Given the description of an element on the screen output the (x, y) to click on. 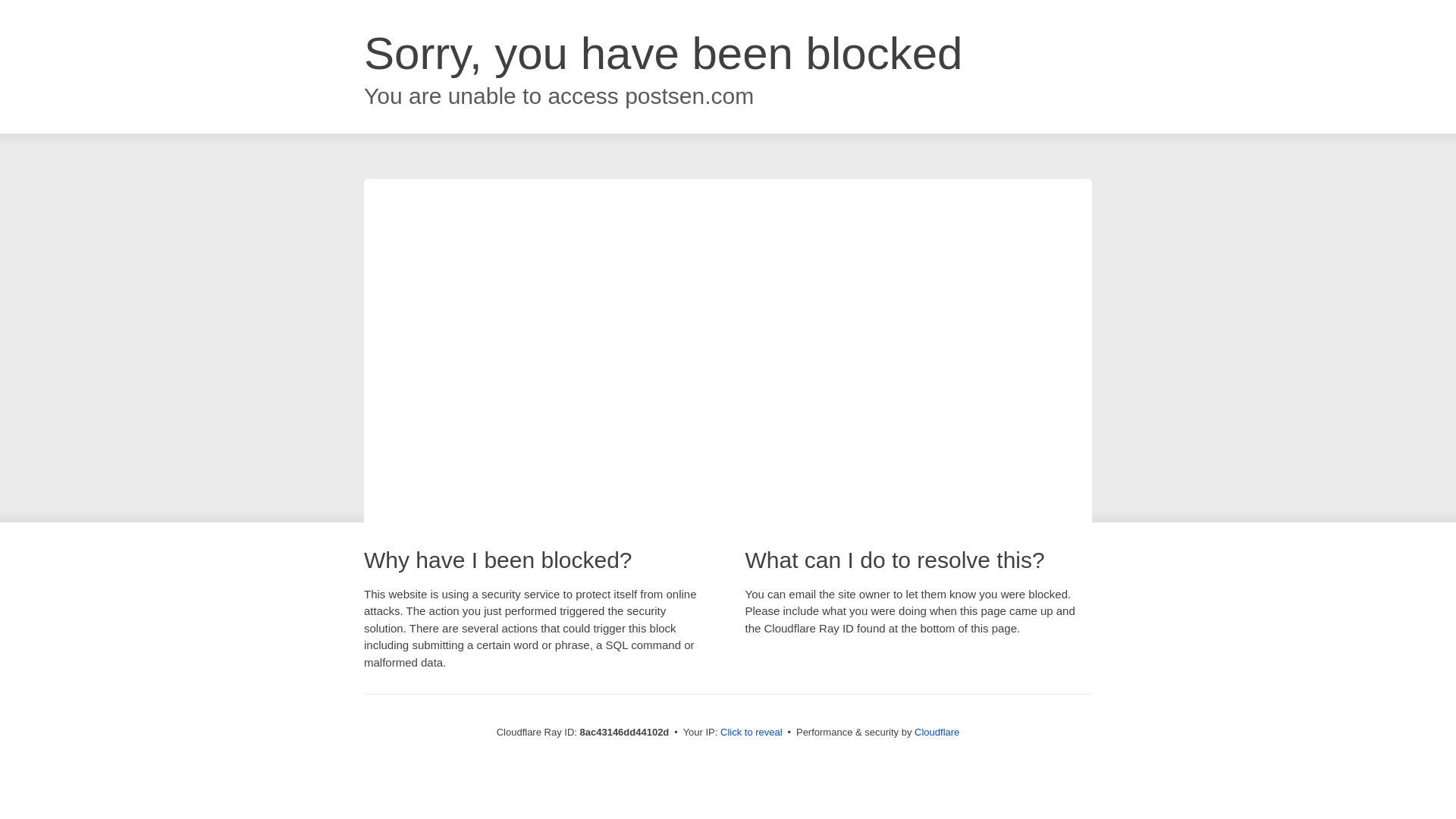
Click to reveal (751, 732)
Cloudflare (936, 731)
